Given the description of an element on the screen output the (x, y) to click on. 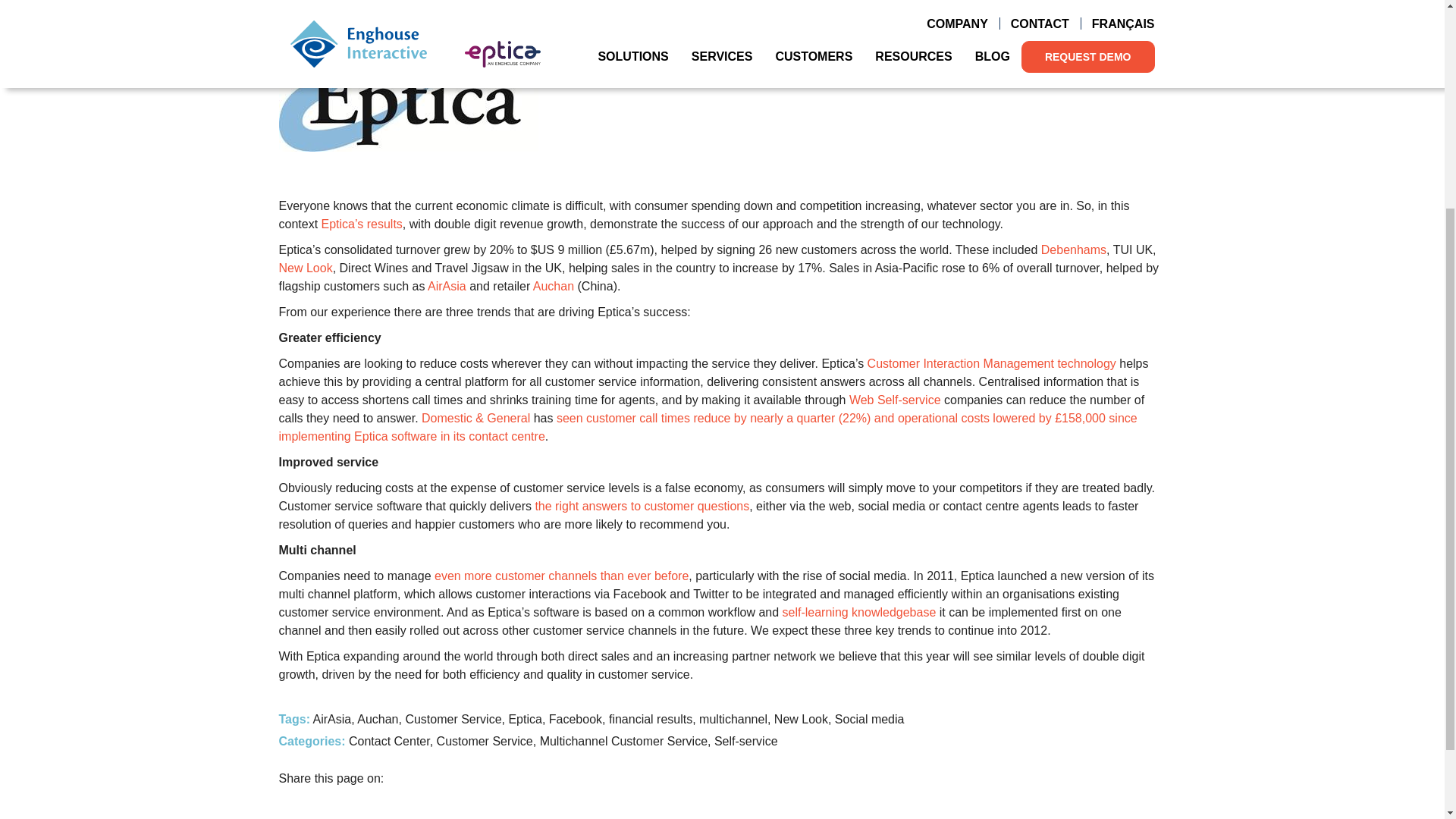
Debenhams (1073, 249)
Auchan (552, 286)
